Given the description of an element on the screen output the (x, y) to click on. 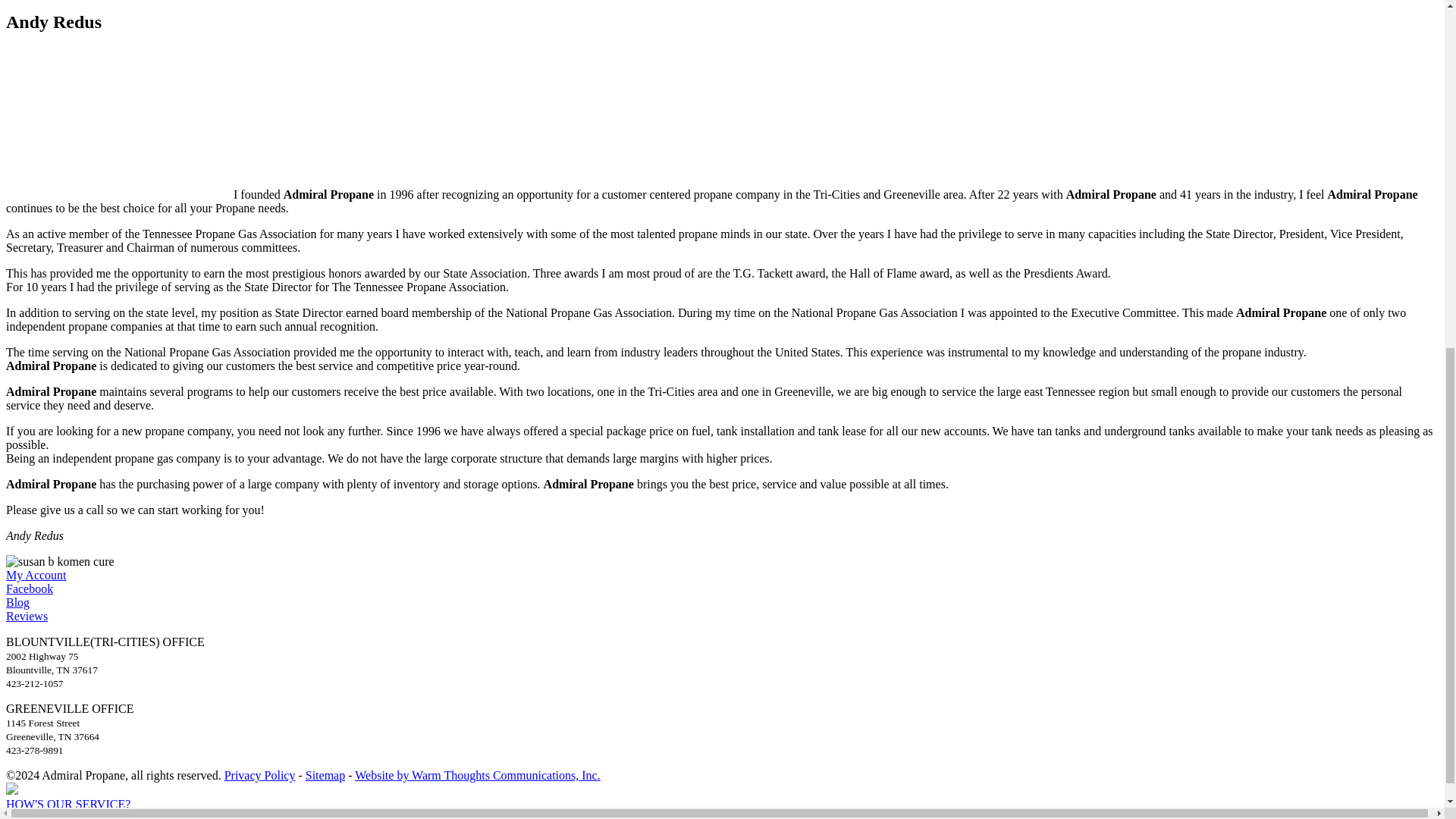
susan b komen cure (60, 561)
privacy policy (259, 775)
customer reviews (26, 615)
facebook (28, 588)
warm thoughts (477, 775)
Sitemap (325, 775)
Reviews (26, 615)
Blog (17, 602)
blog (17, 602)
Website by Warm Thoughts Communications, Inc. (477, 775)
